Given the description of an element on the screen output the (x, y) to click on. 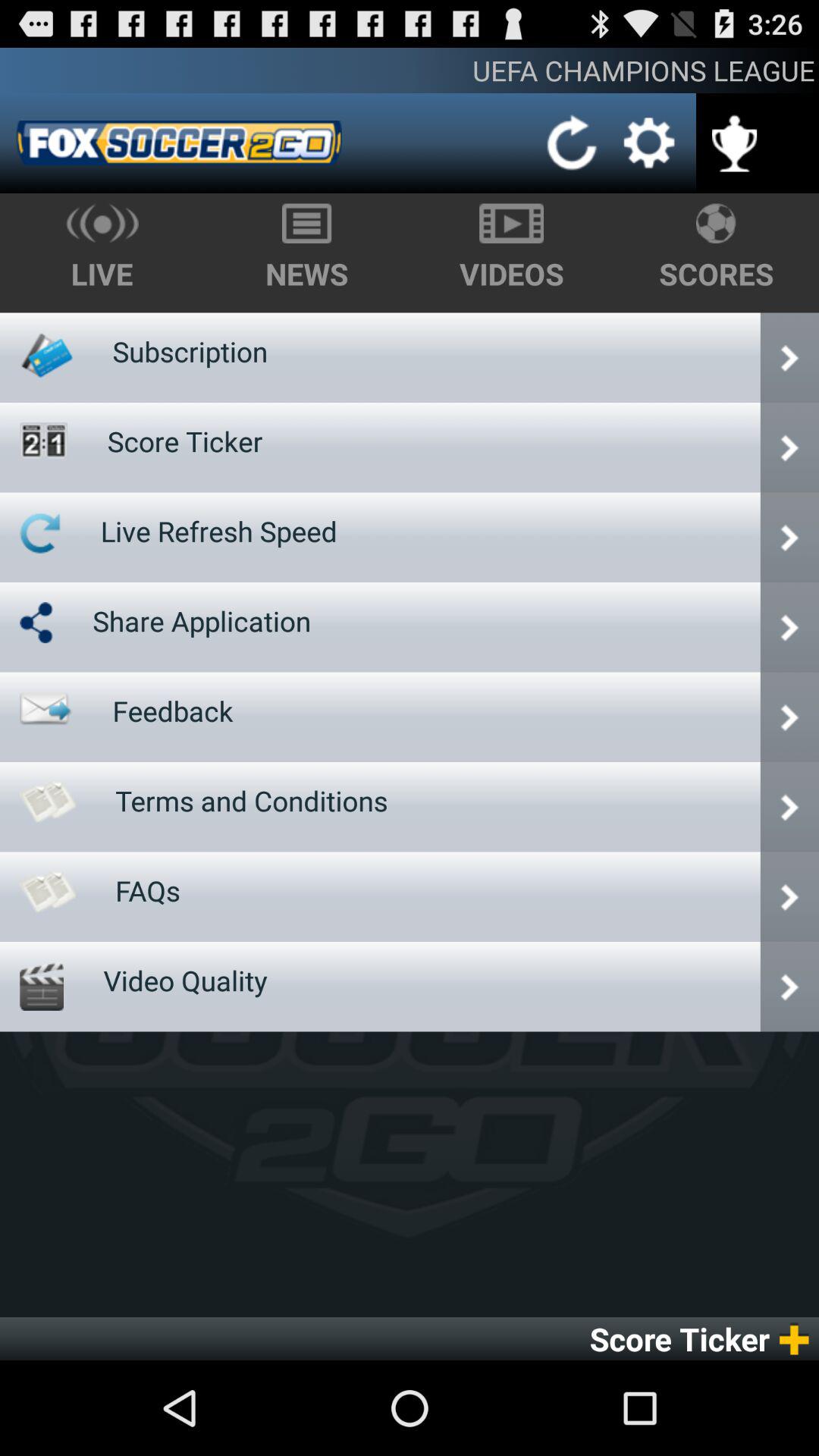
click app below live (189, 351)
